Given the description of an element on the screen output the (x, y) to click on. 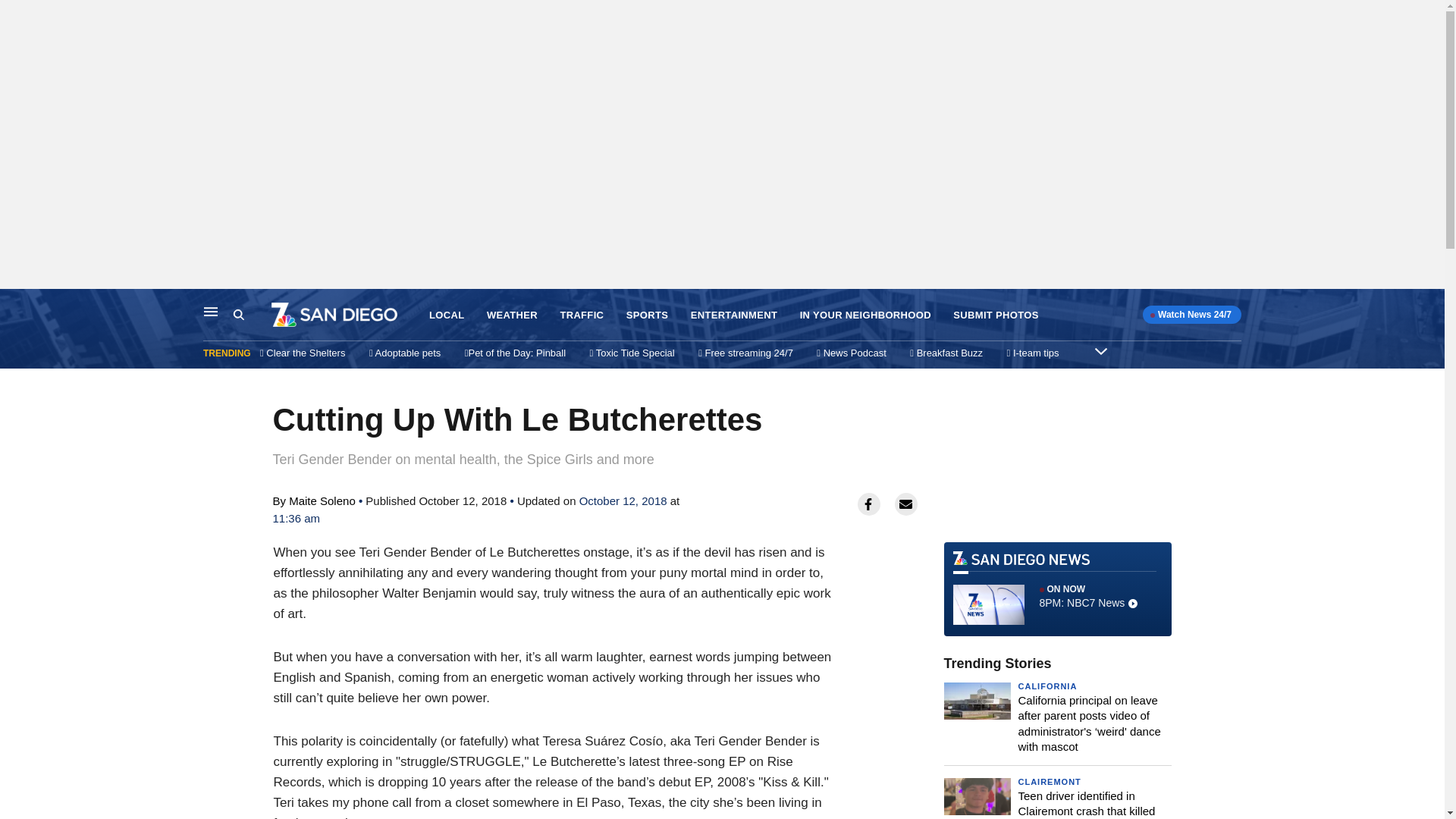
SUBMIT PHOTOS (995, 315)
LOCAL (446, 315)
TRAFFIC (581, 315)
Search (238, 314)
Skip to content (16, 304)
WEATHER (511, 315)
Main Navigation (210, 311)
SPORTS (647, 315)
Search (252, 314)
